Given the description of an element on the screen output the (x, y) to click on. 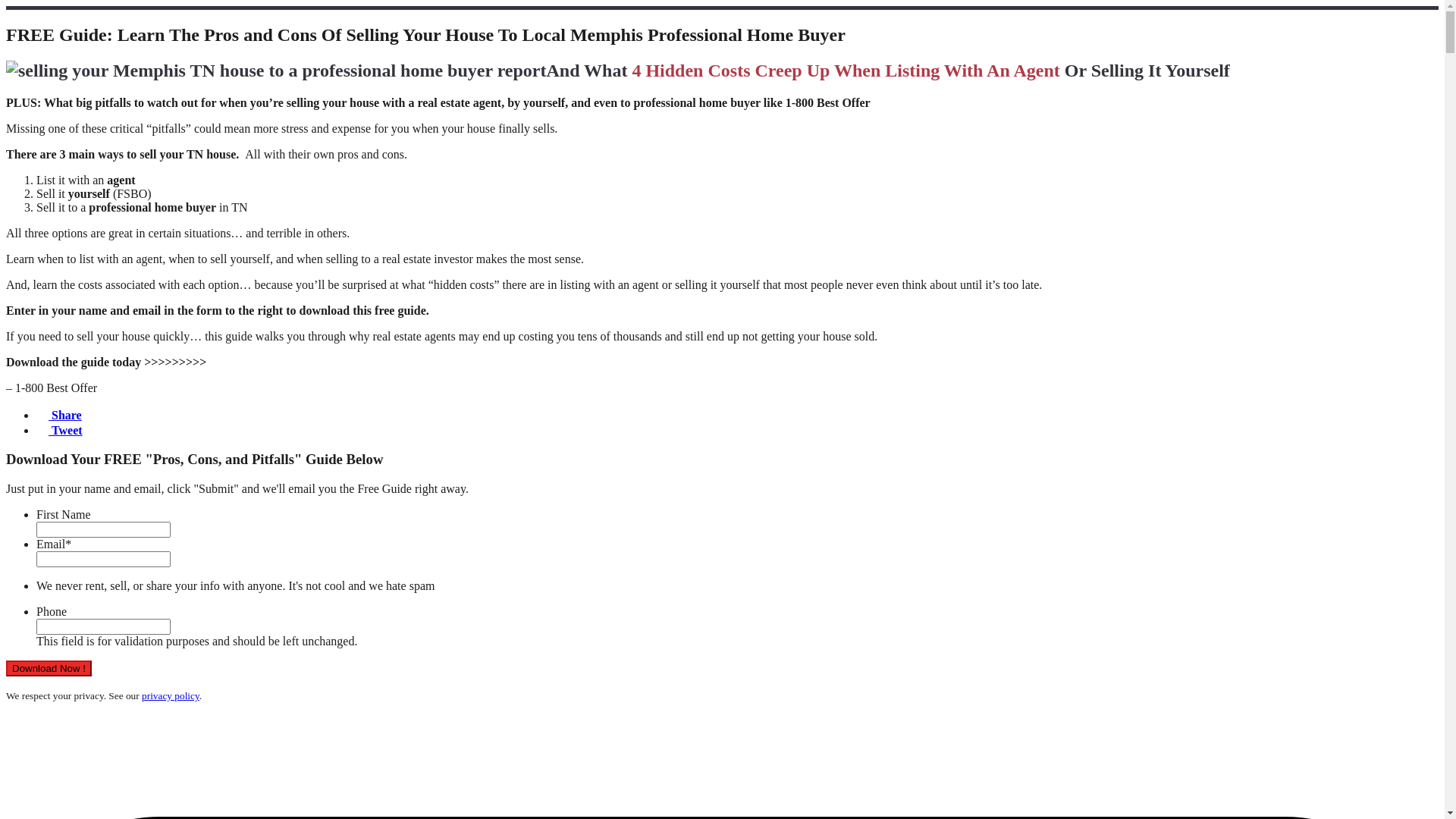
privacy policy Element type: text (170, 695)
Share Element type: text (58, 414)
Tweet Element type: text (59, 429)
Download Now ! Element type: text (48, 668)
